Given the description of an element on the screen output the (x, y) to click on. 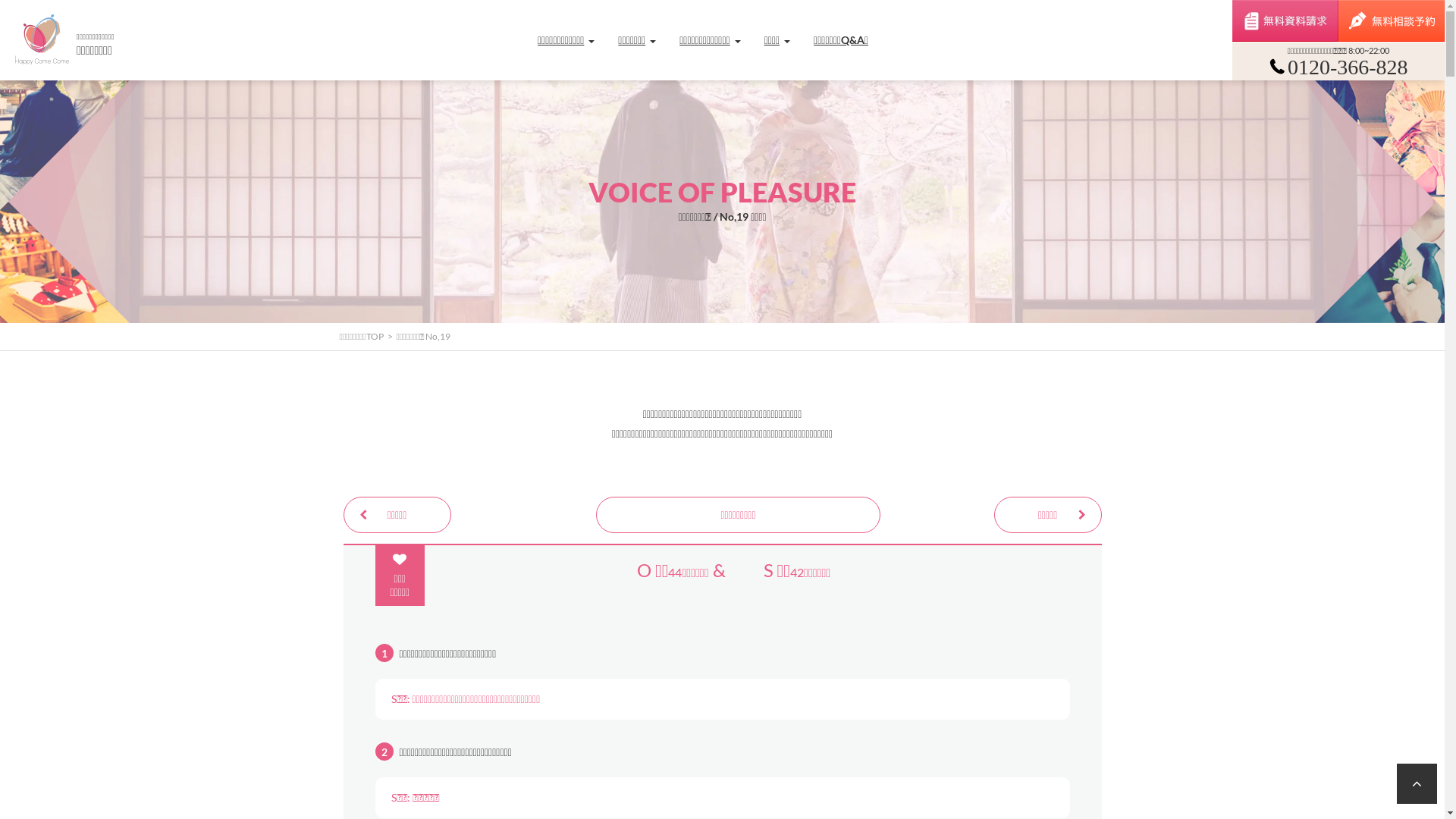
0120-366-828 Element type: text (1338, 72)
